Given the description of an element on the screen output the (x, y) to click on. 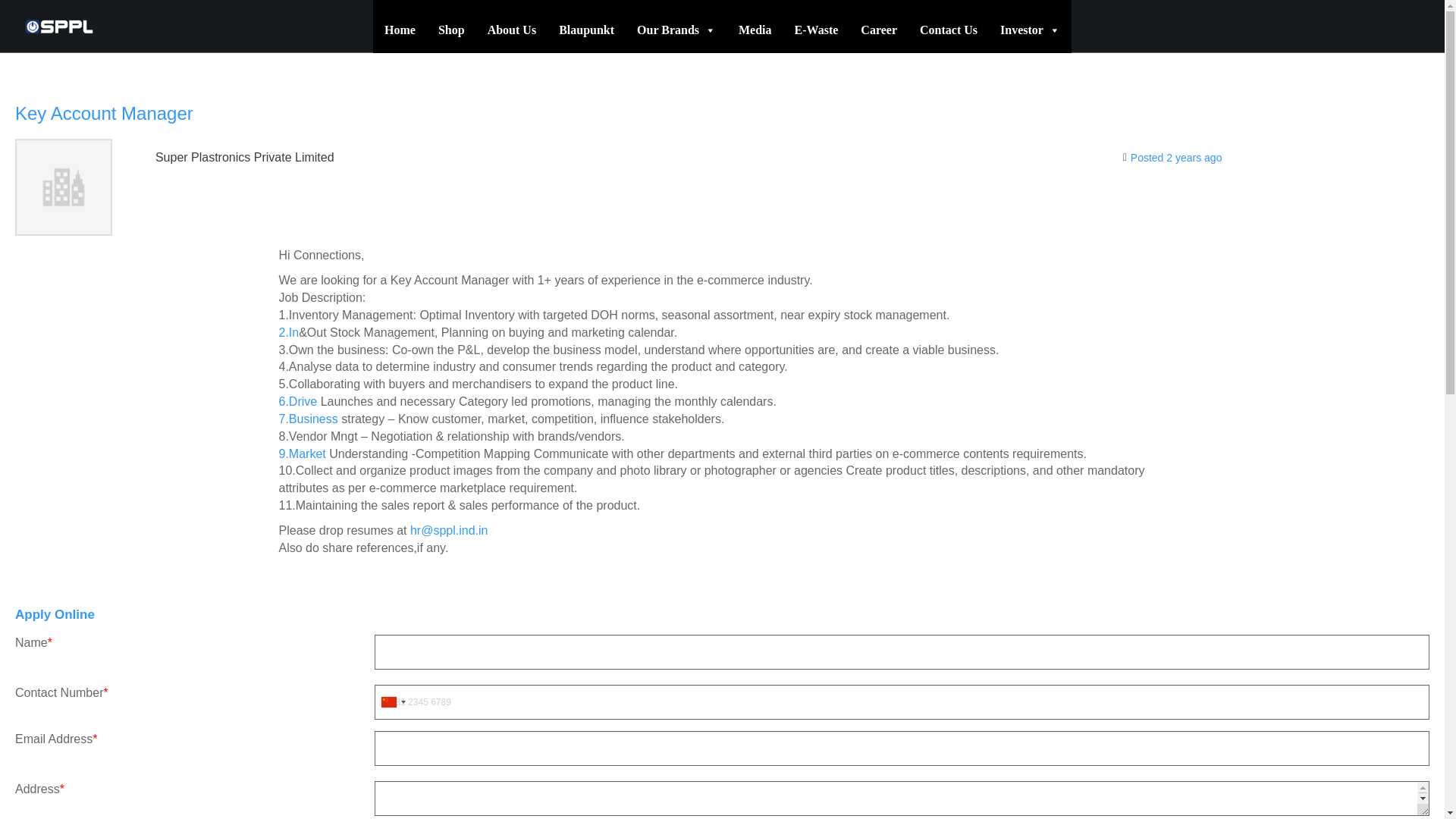
Career (878, 30)
Media (754, 30)
Contact Us (948, 30)
Our Brands (676, 30)
Blaupunkt (586, 30)
Investor (1029, 30)
E-Waste (816, 30)
About Us (511, 30)
Home (399, 30)
Shop (451, 30)
